Given the description of an element on the screen output the (x, y) to click on. 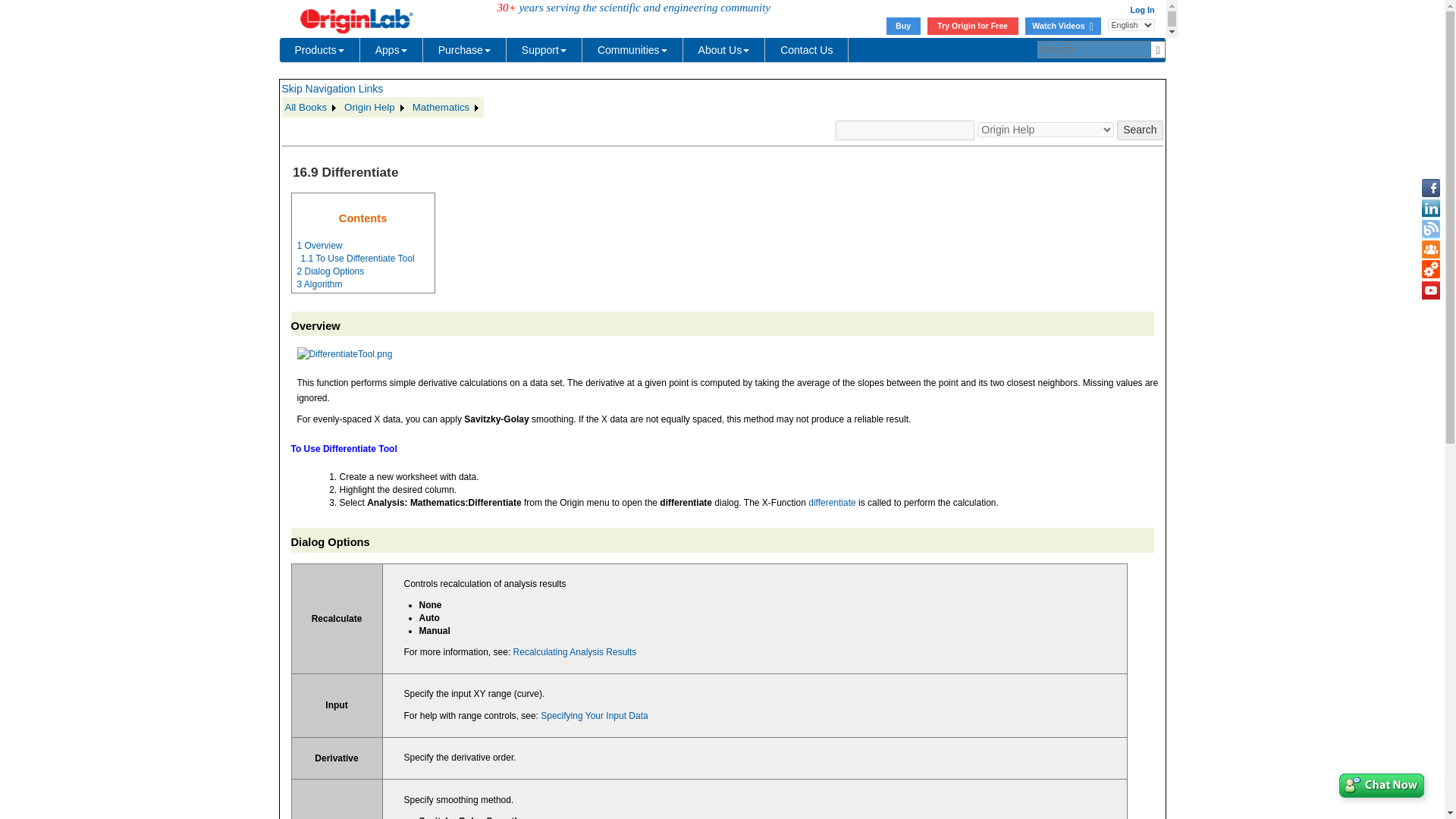
LinkedIn (1431, 208)
Forum (1431, 249)
Try Origin for Free (972, 26)
All Books (312, 107)
Mathematics (446, 107)
Facebook (1431, 188)
File Exchange (1431, 270)
Watch Videos  (1062, 26)
Youtube (1431, 290)
Origin Help (374, 107)
Log In (1142, 9)
Products (319, 49)
Buy Now (903, 26)
Blog (1431, 229)
Search (1138, 130)
